Given the description of an element on the screen output the (x, y) to click on. 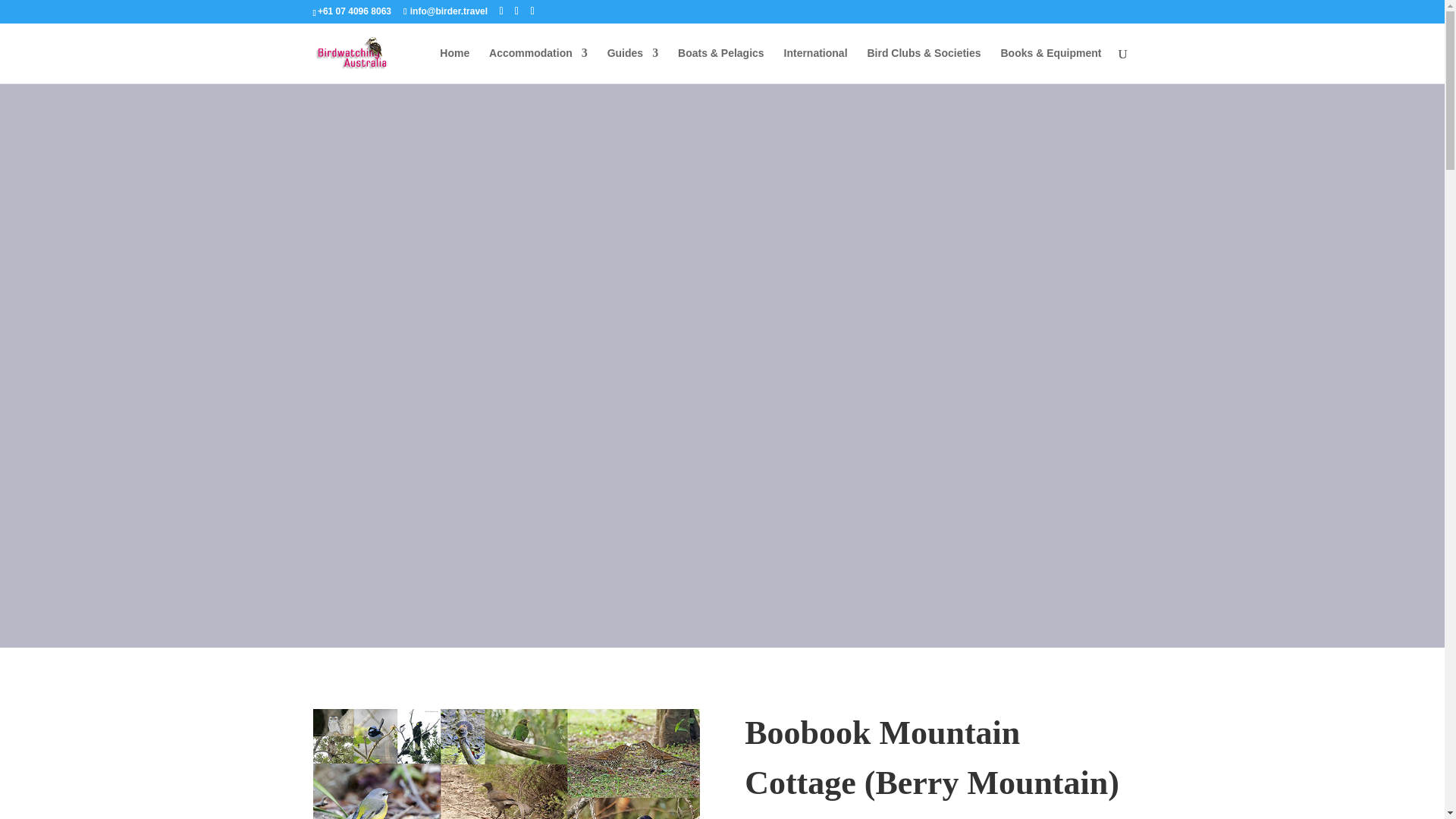
International (815, 65)
Bookbook - Collage (505, 764)
Guides (632, 65)
Accommodation (538, 65)
